Given the description of an element on the screen output the (x, y) to click on. 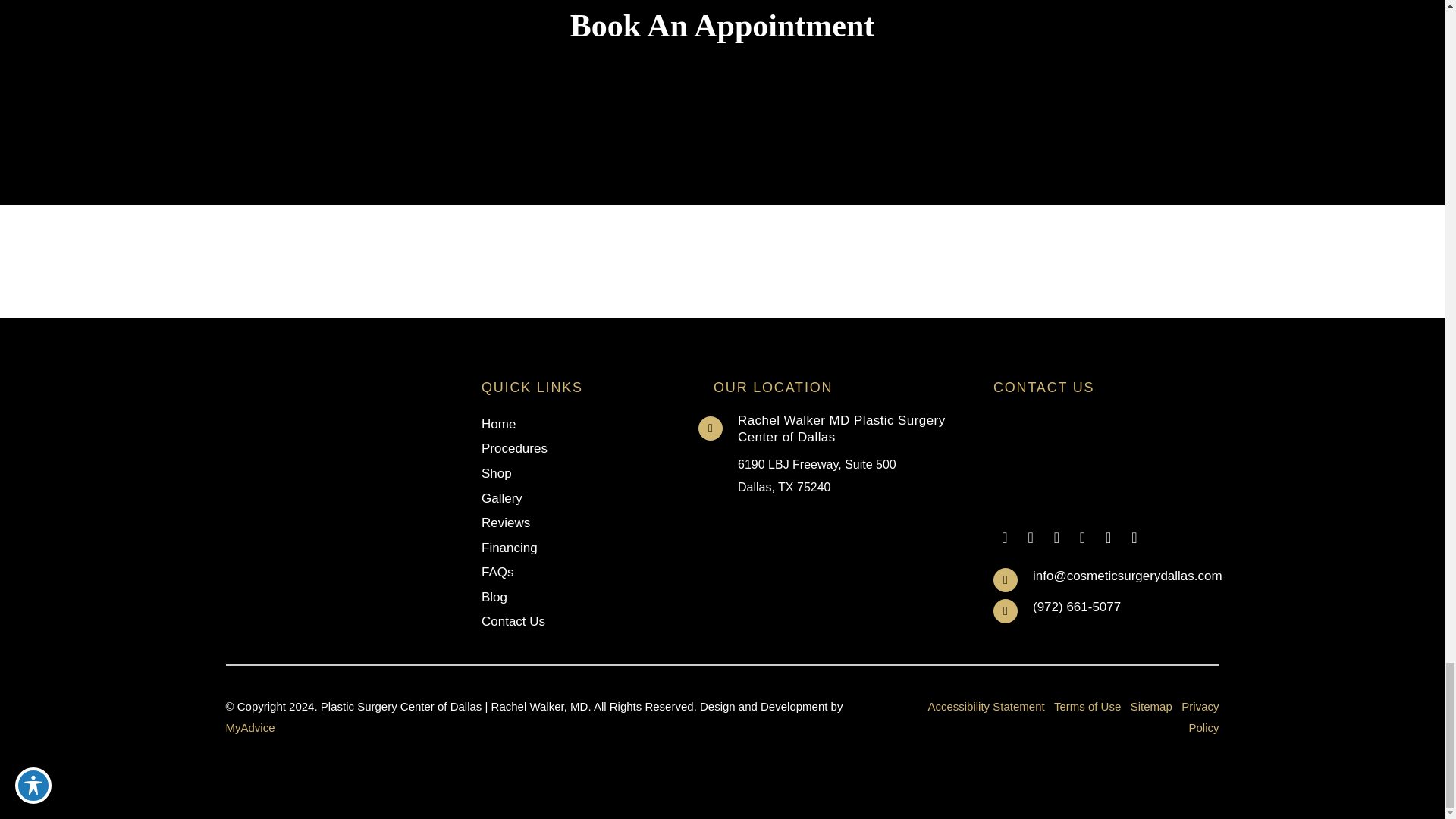
Website Contact Form (721, 119)
